Given the description of an element on the screen output the (x, y) to click on. 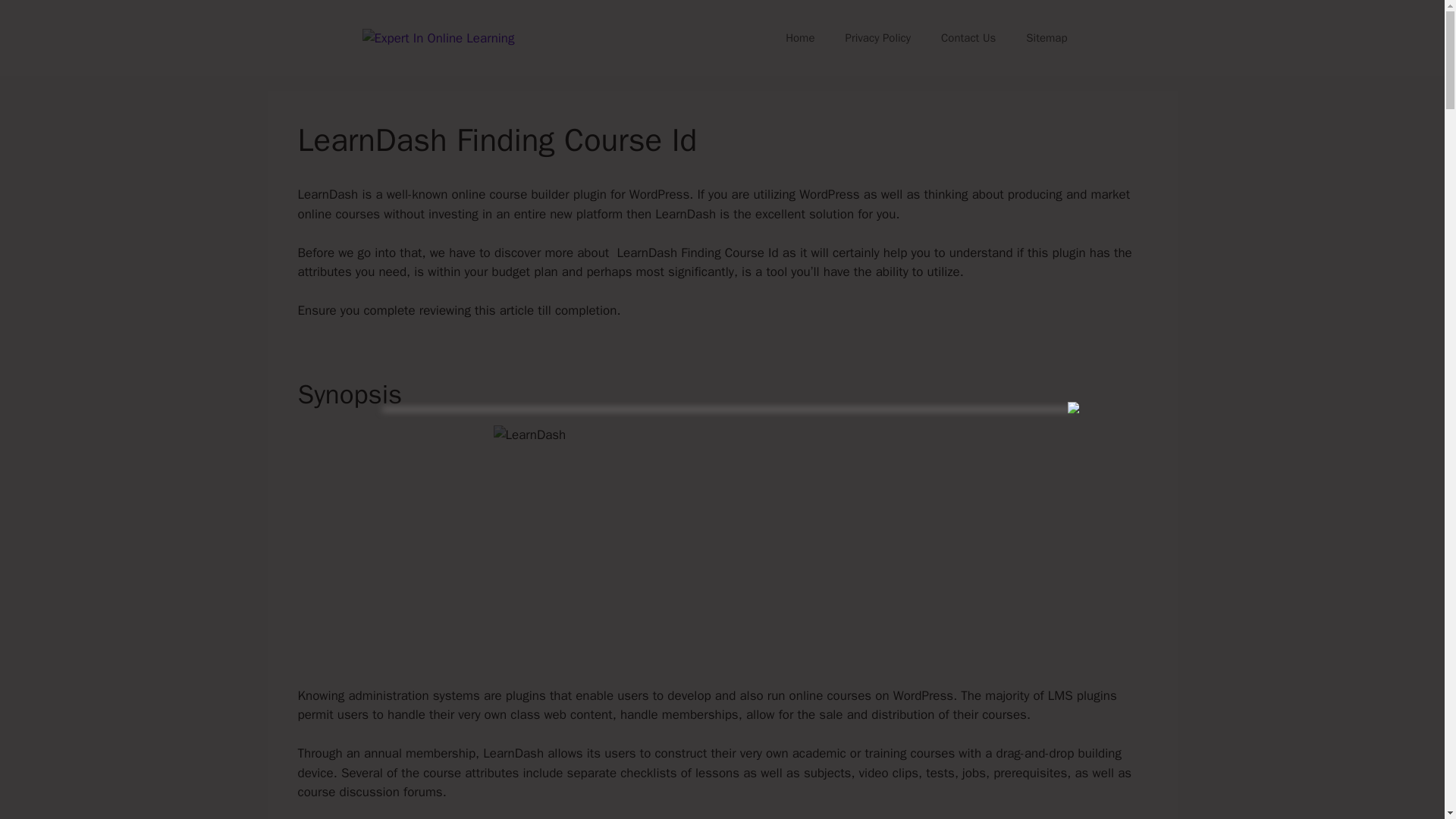
Privacy Policy (877, 37)
Sitemap (1045, 37)
Contact Us (968, 37)
Home (799, 37)
